Given the description of an element on the screen output the (x, y) to click on. 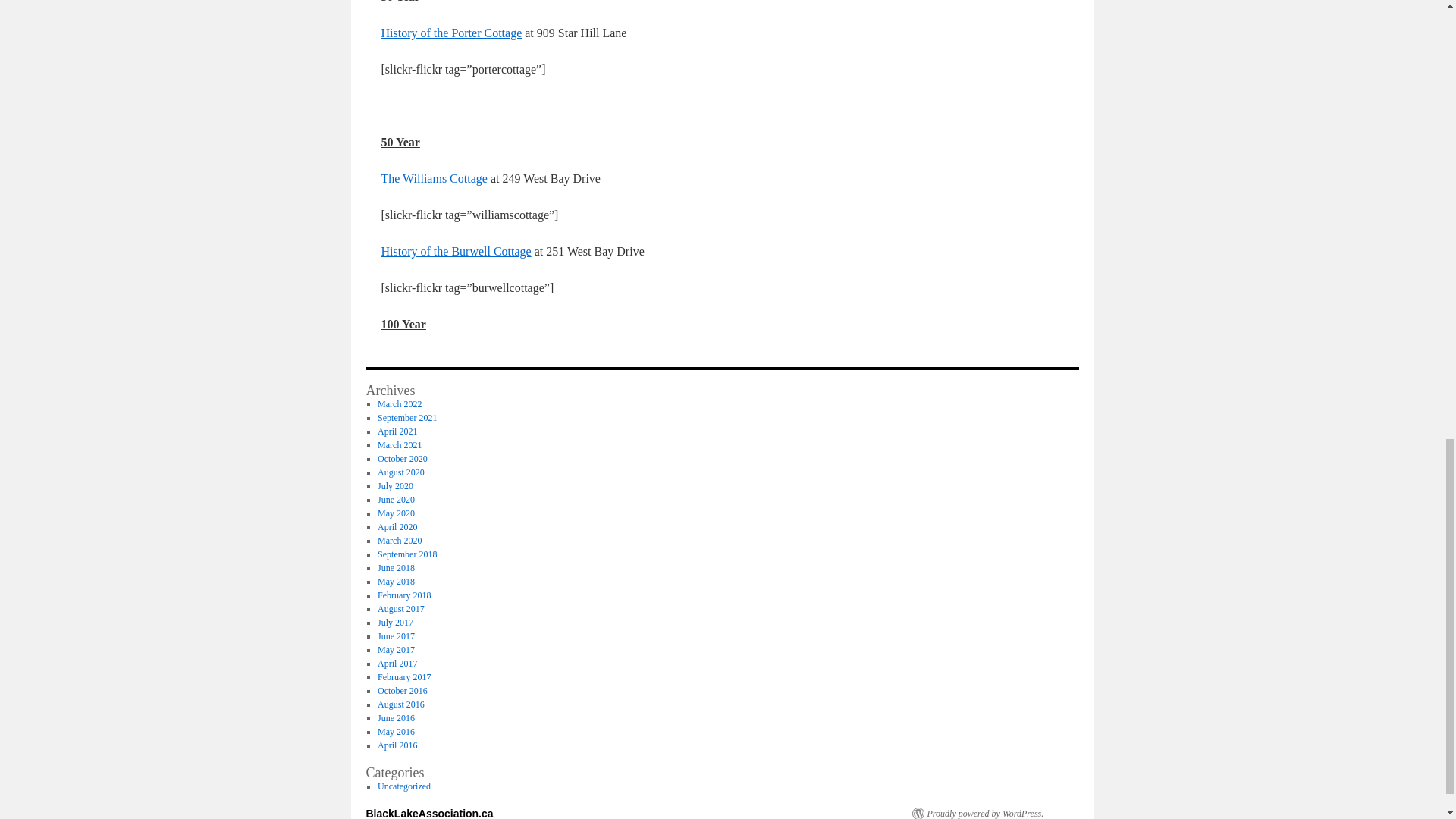
September 2018 (406, 553)
March 2020 (399, 540)
History of the Burwell Cottage (455, 250)
June 2020 (395, 499)
March 2022 (399, 403)
History of the Porter Cottage (450, 32)
August 2020 (401, 471)
September 2021 (406, 417)
May 2020 (395, 512)
April 2020 (396, 526)
